Given the description of an element on the screen output the (x, y) to click on. 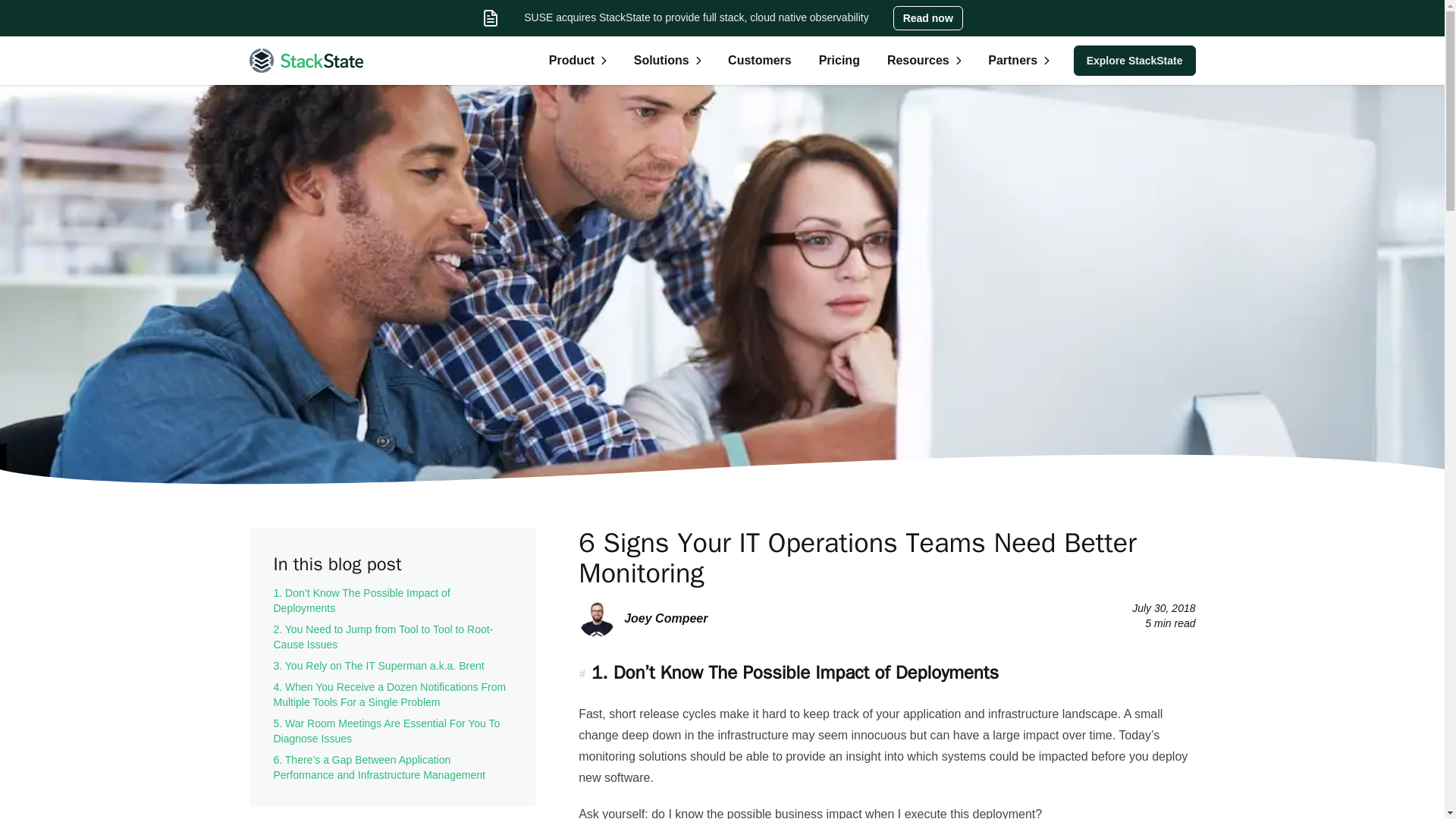
Read now (927, 17)
Customers (759, 60)
Pricing (839, 60)
